Given the description of an element on the screen output the (x, y) to click on. 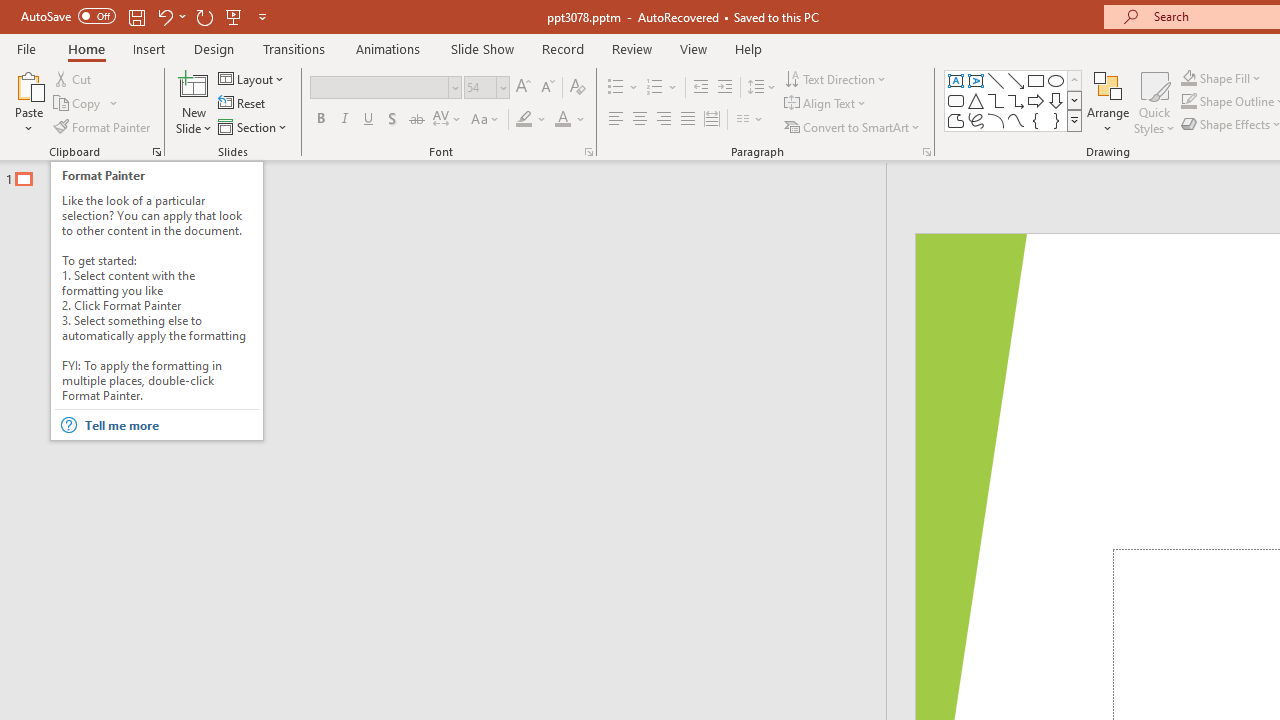
Tell me more (170, 425)
